Given the description of an element on the screen output the (x, y) to click on. 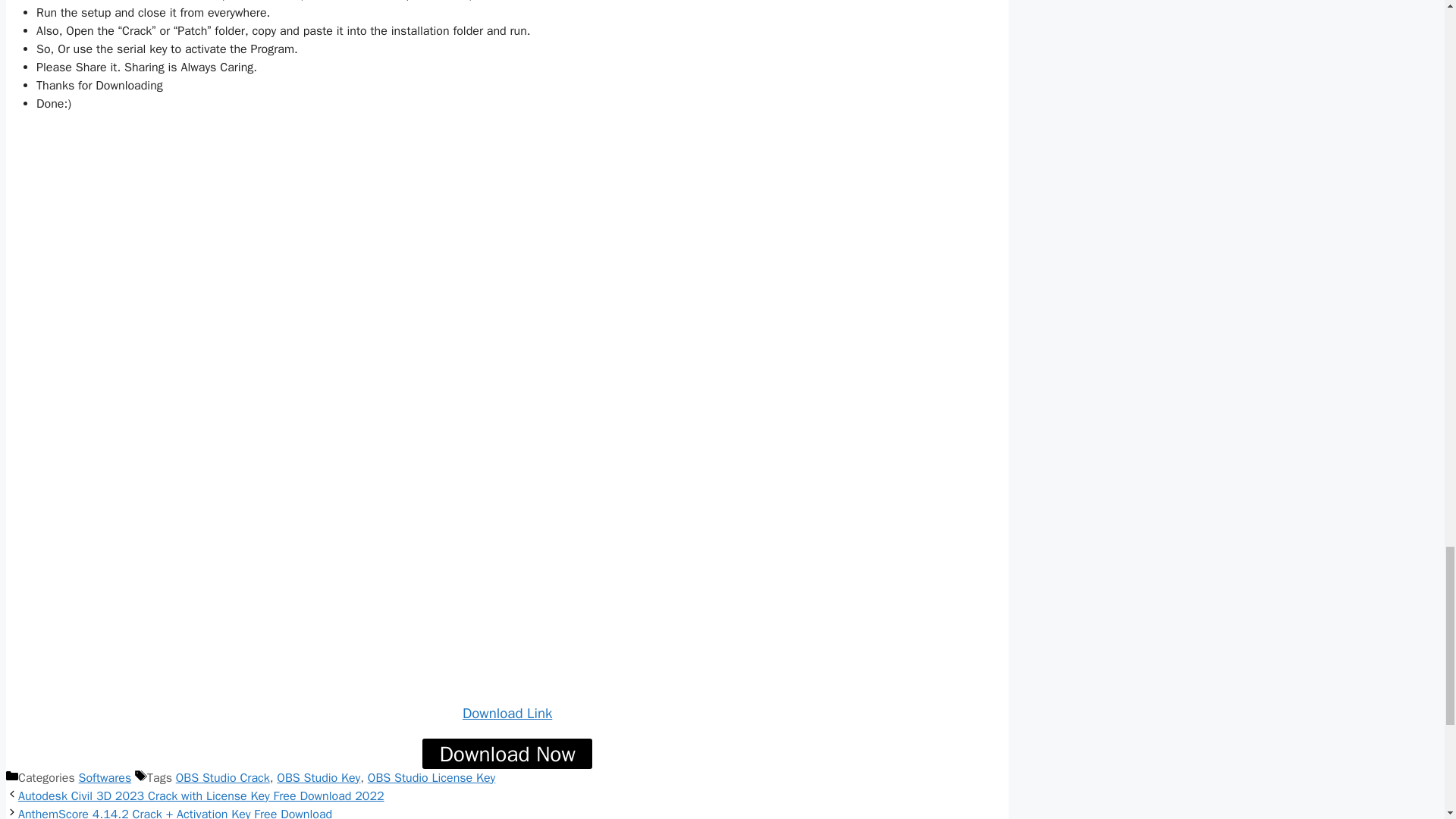
Softwares (105, 777)
OBS Studio Key (317, 777)
Download Now (506, 753)
OBS Studio License Key (431, 777)
OBS Studio Crack (222, 777)
Download Link (507, 713)
